Given the description of an element on the screen output the (x, y) to click on. 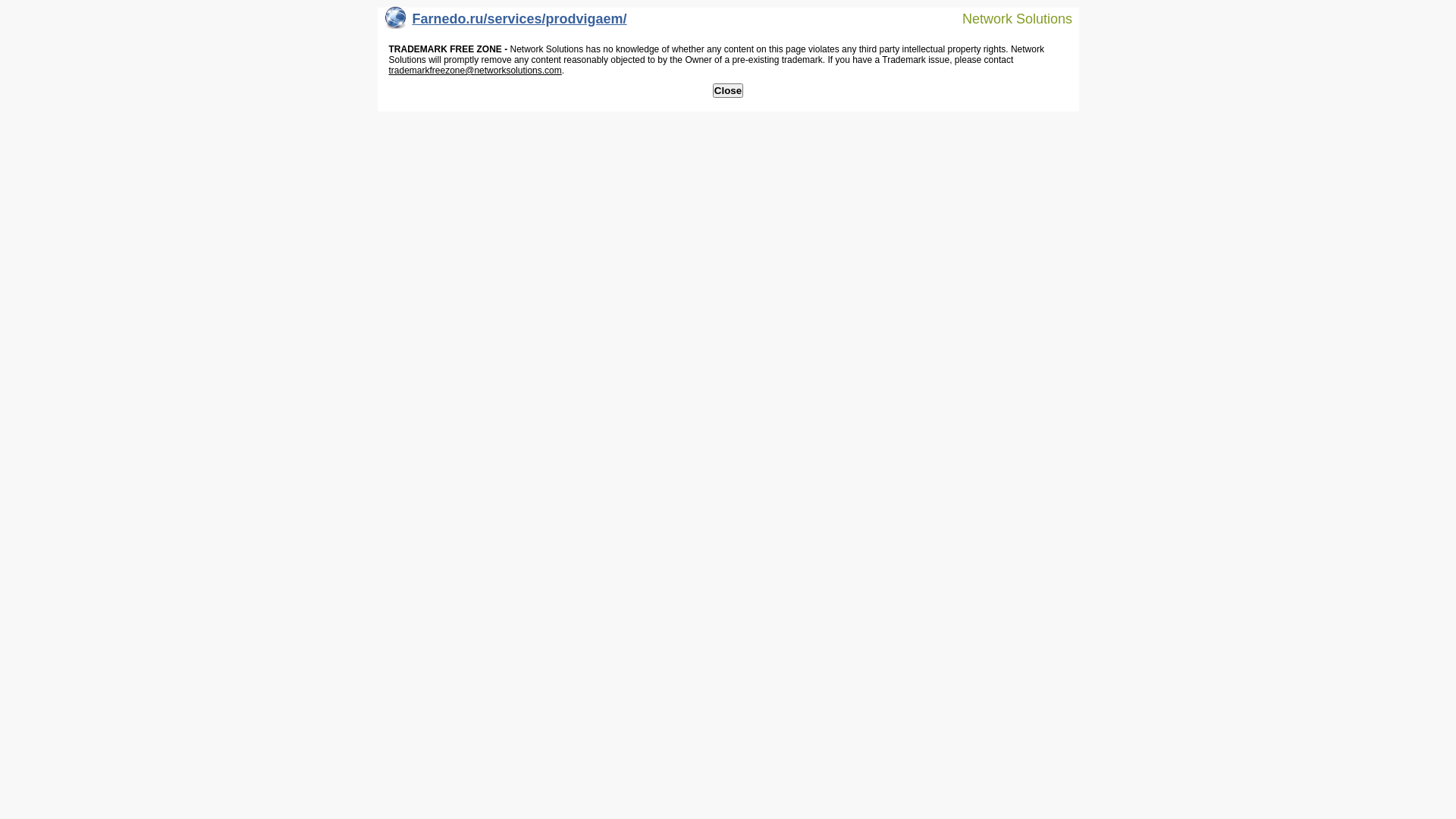
Network Solutions Element type: text (1007, 17)
trademarkfreezone@networksolutions.com Element type: text (474, 70)
Farnedo.ru/services/prodvigaem/ Element type: text (506, 21)
Close Element type: text (727, 90)
